Given the description of an element on the screen output the (x, y) to click on. 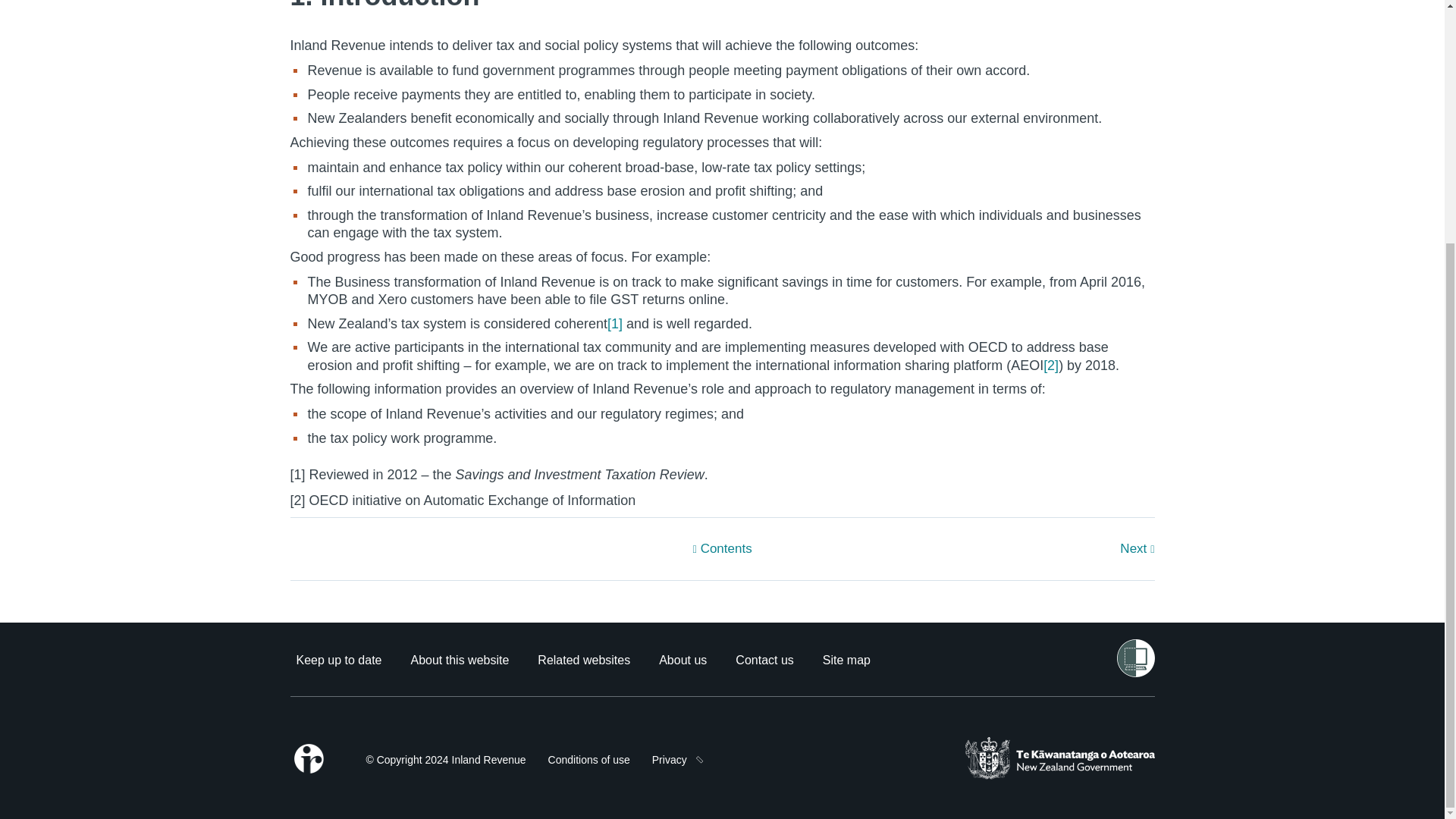
Keep up to date (338, 659)
About us (682, 659)
Site map (846, 659)
About us (682, 659)
Site map (846, 659)
Contents (722, 548)
Next (1010, 548)
Conditions of use (589, 759)
Contact us (764, 659)
Copyright policy (445, 759)
Contact us (764, 659)
About this website (459, 659)
Related websites (583, 659)
Related websites (583, 659)
Keep up to date (338, 659)
